Given the description of an element on the screen output the (x, y) to click on. 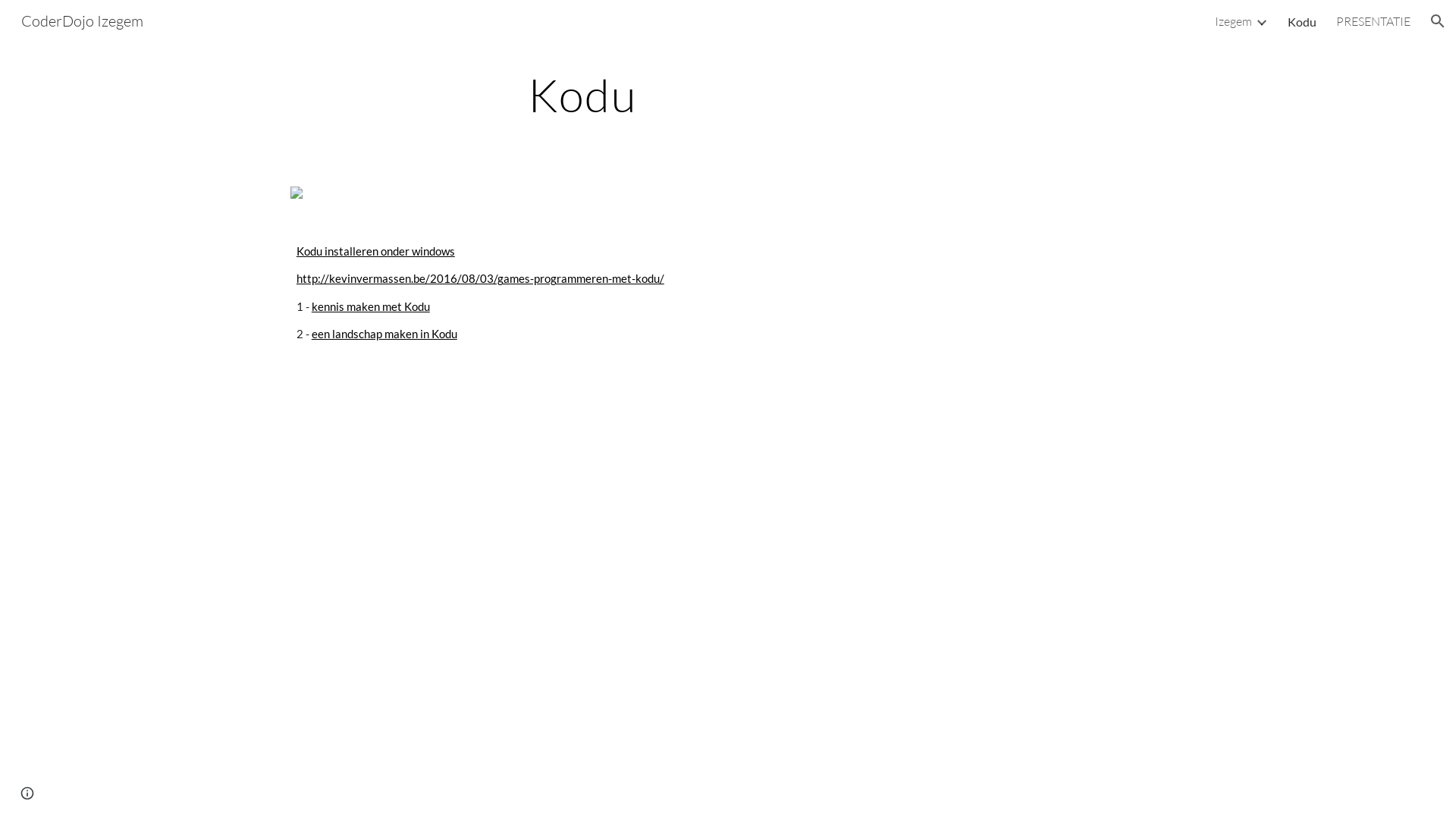
kennis maken met Kodu Element type: text (370, 306)
CoderDojo Izegem Element type: text (82, 18)
Kodu Element type: text (1301, 20)
een landschap maken in Kodu Element type: text (384, 333)
Izegem Element type: text (1233, 20)
Expand/Collapse Element type: hover (1260, 20)
Kodu installeren onder windows Element type: text (375, 250)
PRESENTATIE Element type: text (1373, 20)
